Given the description of an element on the screen output the (x, y) to click on. 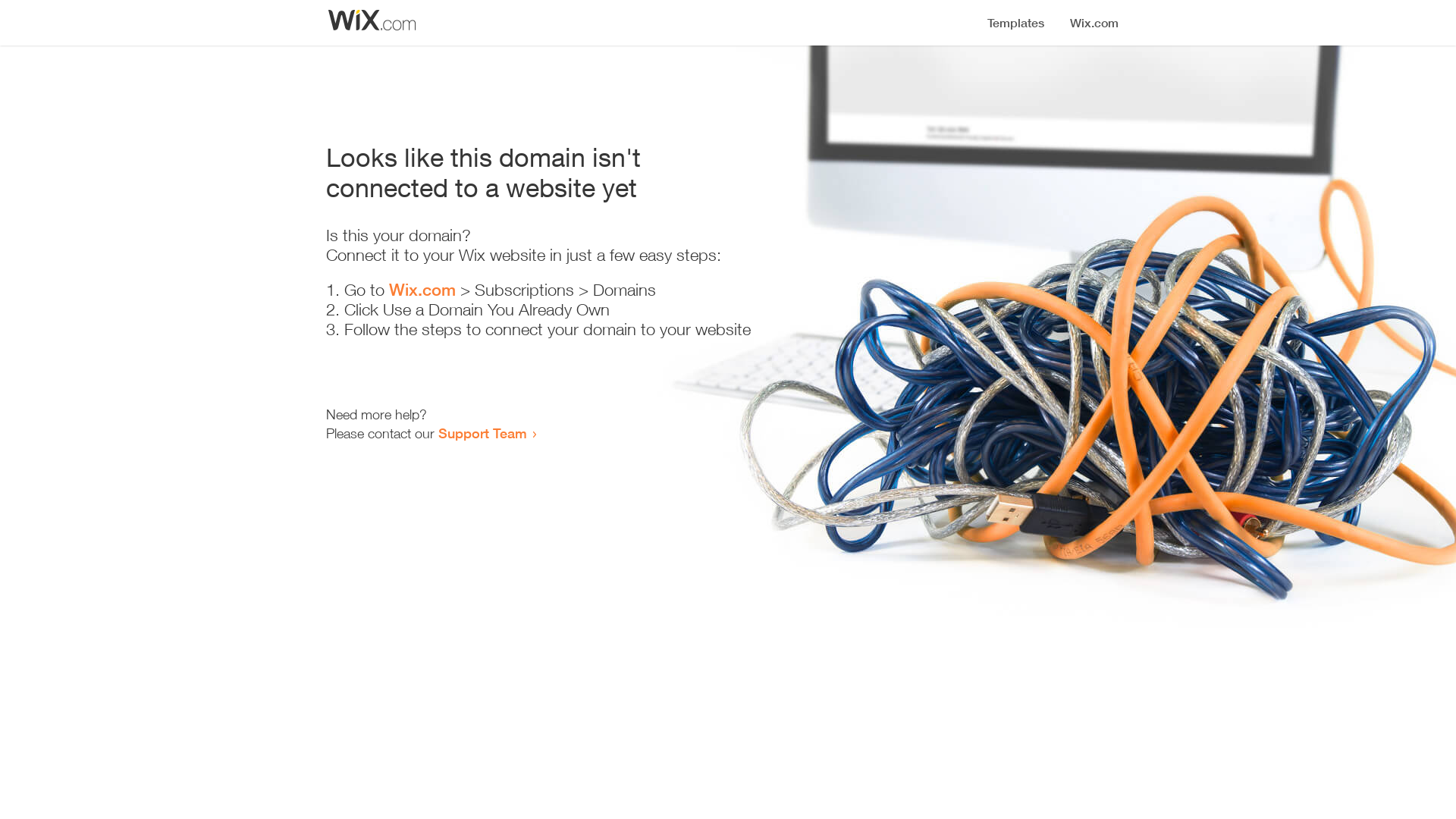
Wix.com Element type: text (422, 289)
Support Team Element type: text (482, 432)
